Given the description of an element on the screen output the (x, y) to click on. 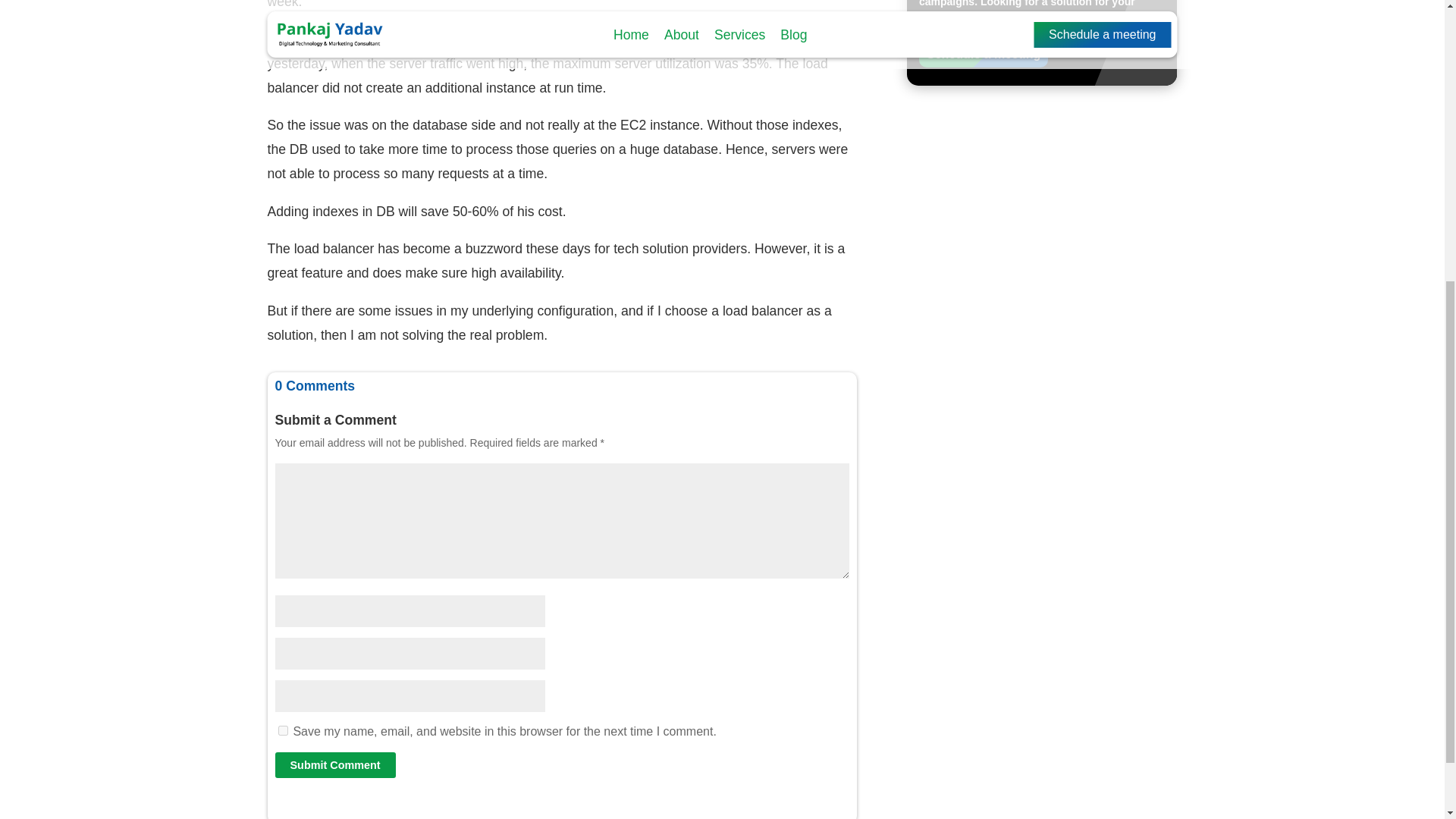
Schedule a meeting (983, 54)
yes (282, 730)
Submit Comment (334, 765)
